Given the description of an element on the screen output the (x, y) to click on. 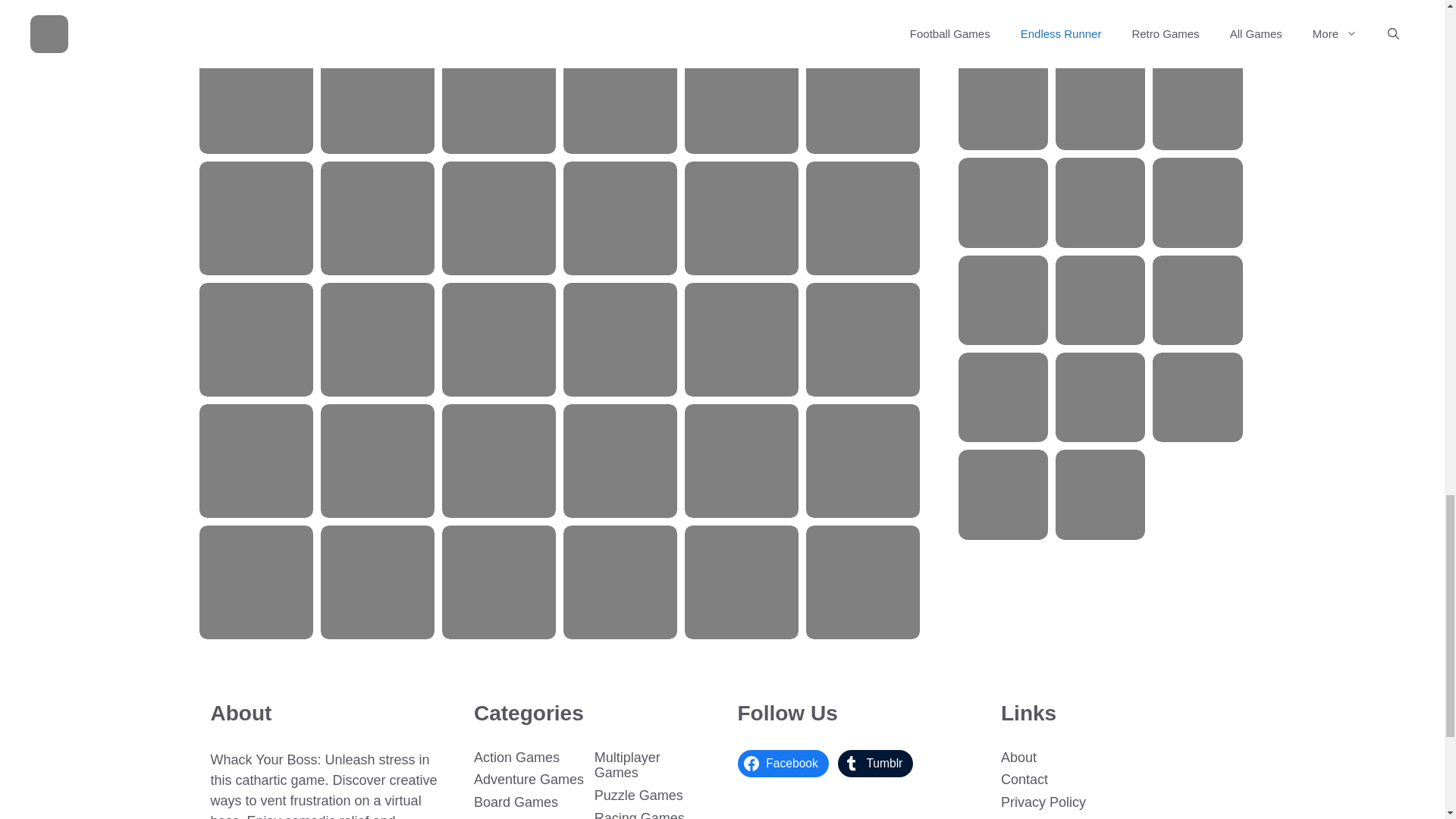
New Star Soccer (863, 96)
American Touchdown Game (620, 218)
OvO (740, 96)
Flappy Bird (256, 218)
4th and Goal 2019 (499, 96)
Classic Hearts (256, 339)
Age of War (376, 218)
Solitaire (376, 96)
Bossy Toss (620, 96)
OvO 2 (740, 218)
3 Slices (863, 218)
Crazy Cars (256, 96)
Run Fun! (499, 218)
